Given the description of an element on the screen output the (x, y) to click on. 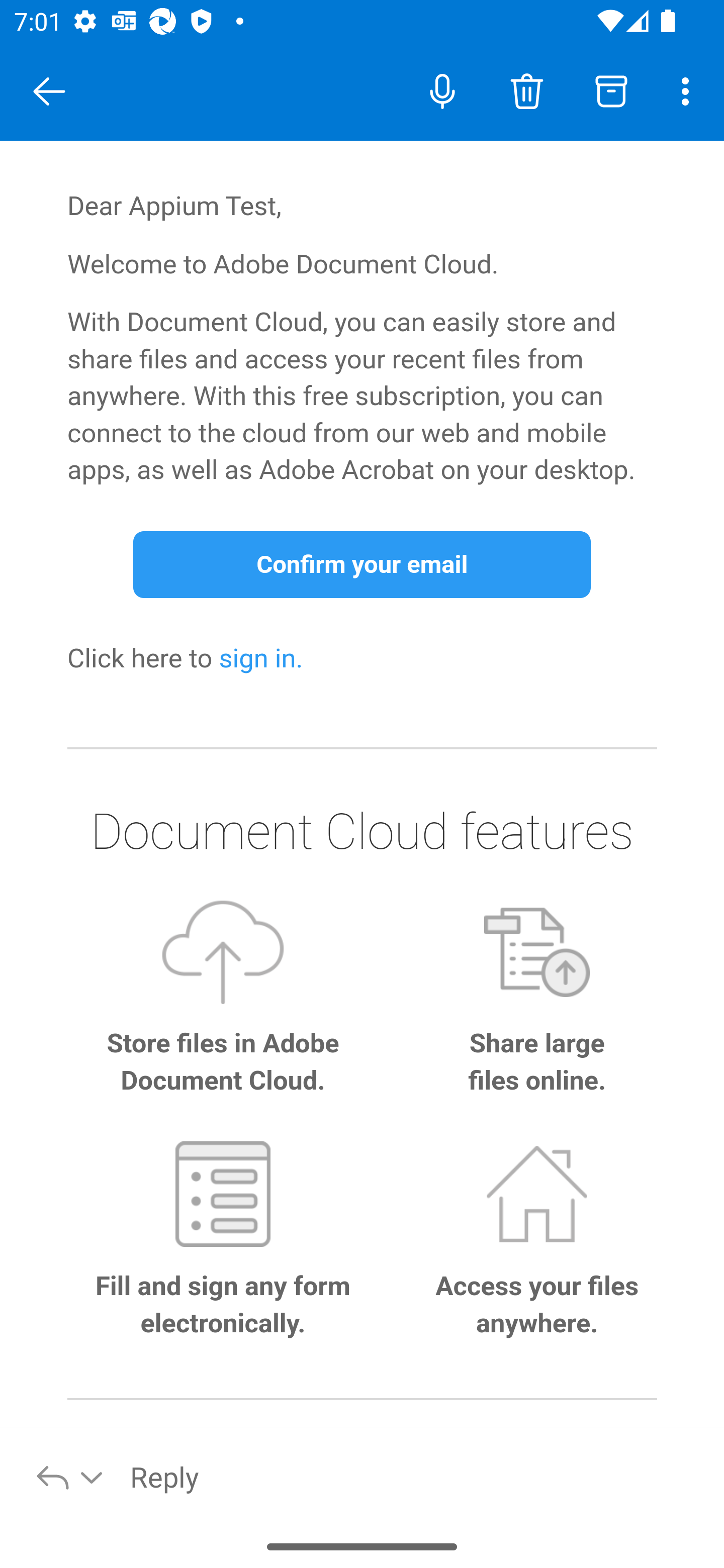
Close (49, 91)
Delete (526, 90)
Archive (611, 90)
More options (688, 90)
Confirm your email (361, 564)
sign in. (261, 660)
Reply options (70, 1475)
Reply (416, 1475)
